Given the description of an element on the screen output the (x, y) to click on. 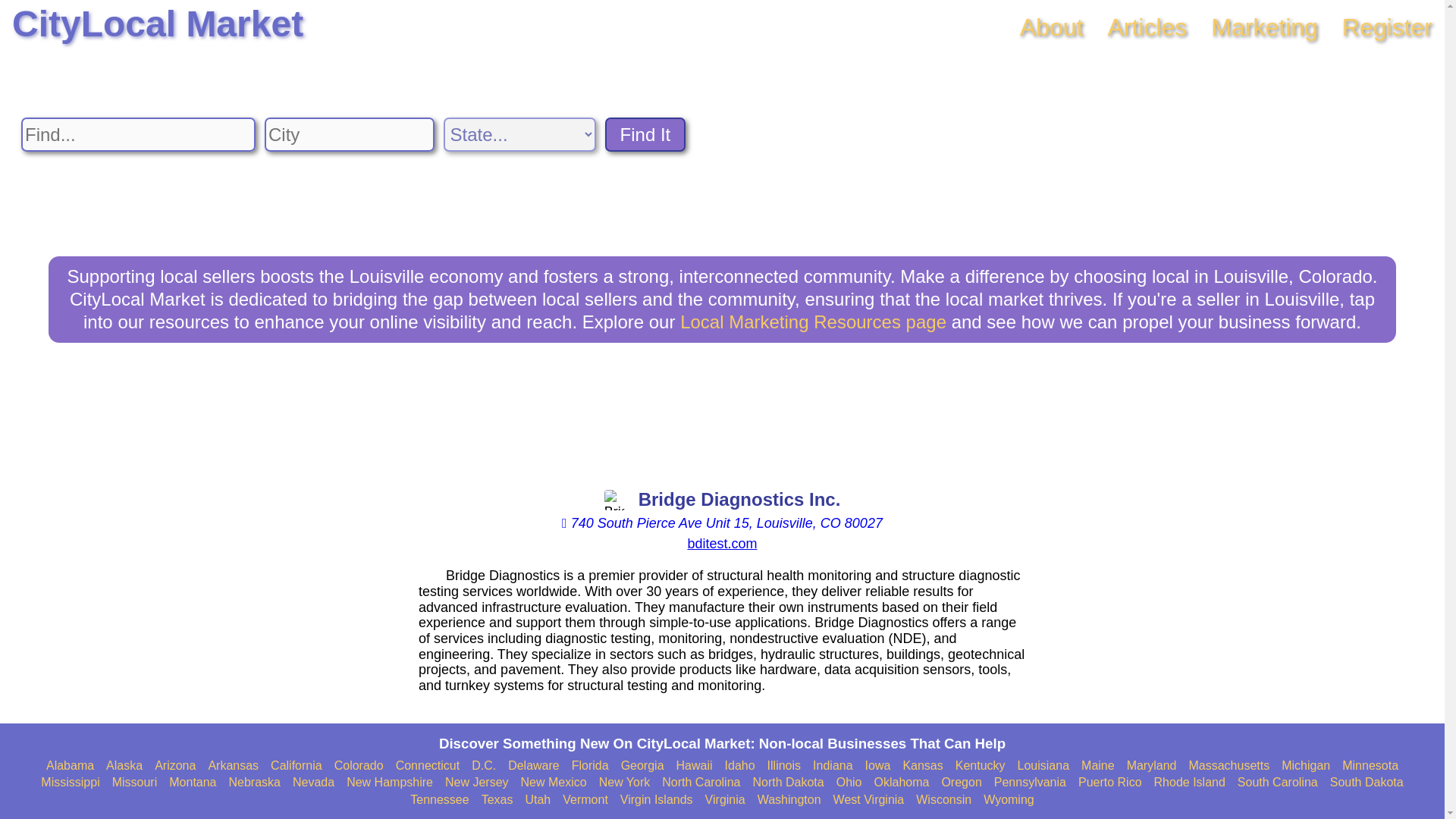
Florida (590, 766)
Articles (1146, 27)
Marketing (1264, 27)
Articles (1146, 27)
Georgia (642, 766)
California (295, 766)
Register (1387, 27)
Michigan (1305, 766)
Find Businesses in Georgia (642, 766)
Visit bditest.com (722, 543)
Illinois (783, 766)
Colorado (359, 766)
Missouri (134, 782)
Find Businesses in Alaska (124, 766)
Arkansas (233, 766)
